Given the description of an element on the screen output the (x, y) to click on. 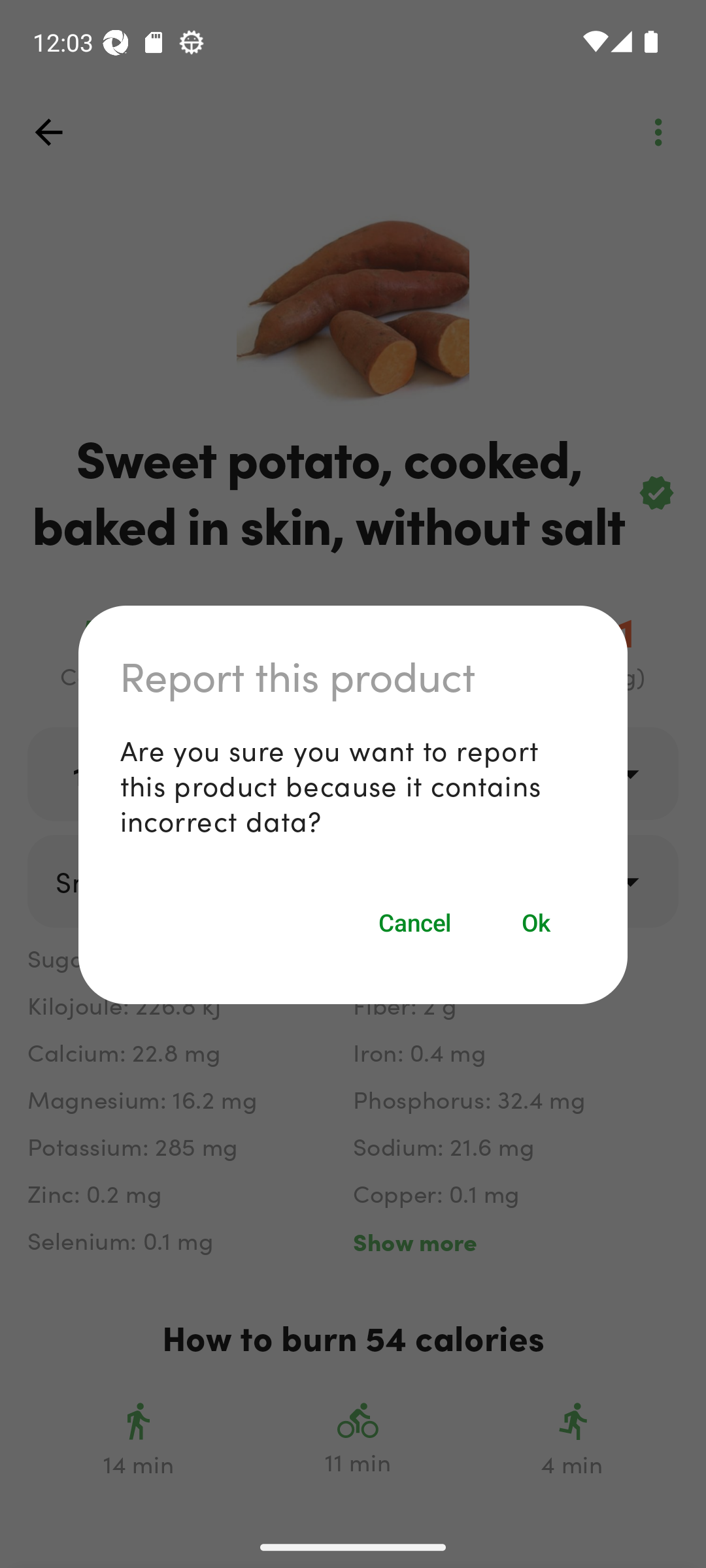
Cancel (415, 922)
Ok (536, 922)
